Given the description of an element on the screen output the (x, y) to click on. 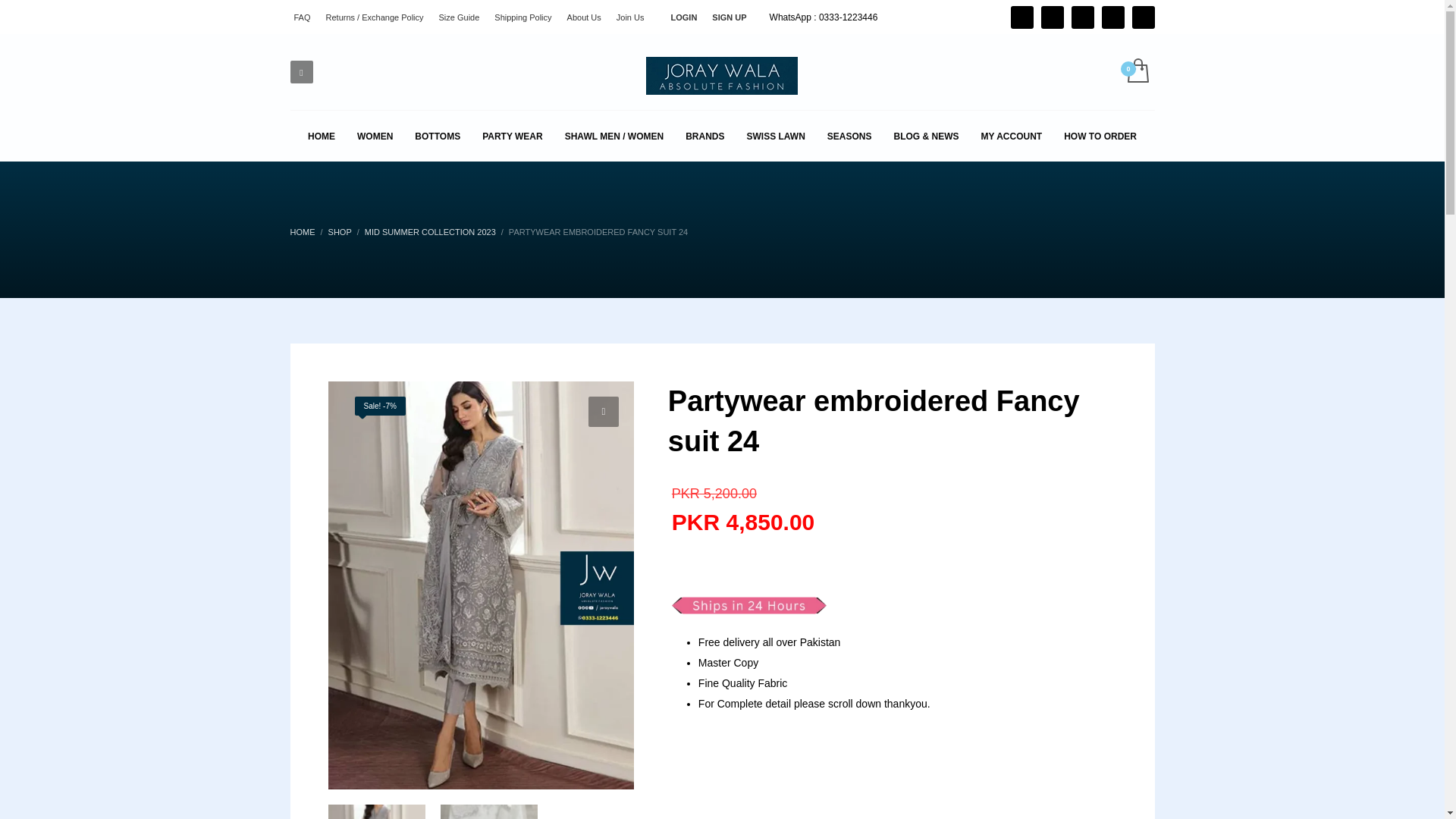
Join Us (630, 16)
Facebook (1052, 16)
View your shopping cart (1136, 71)
Twitter (1021, 16)
About Us (584, 16)
JUGG-F-001-joraywala (480, 585)
Youtube (1143, 16)
Shipping Policy (523, 16)
instagram (1113, 16)
WOMEN (374, 137)
Pinterest (1082, 16)
SIGN UP (728, 16)
Size Guide (459, 16)
FAQ (302, 16)
YouTube video player (787, 770)
